Given the description of an element on the screen output the (x, y) to click on. 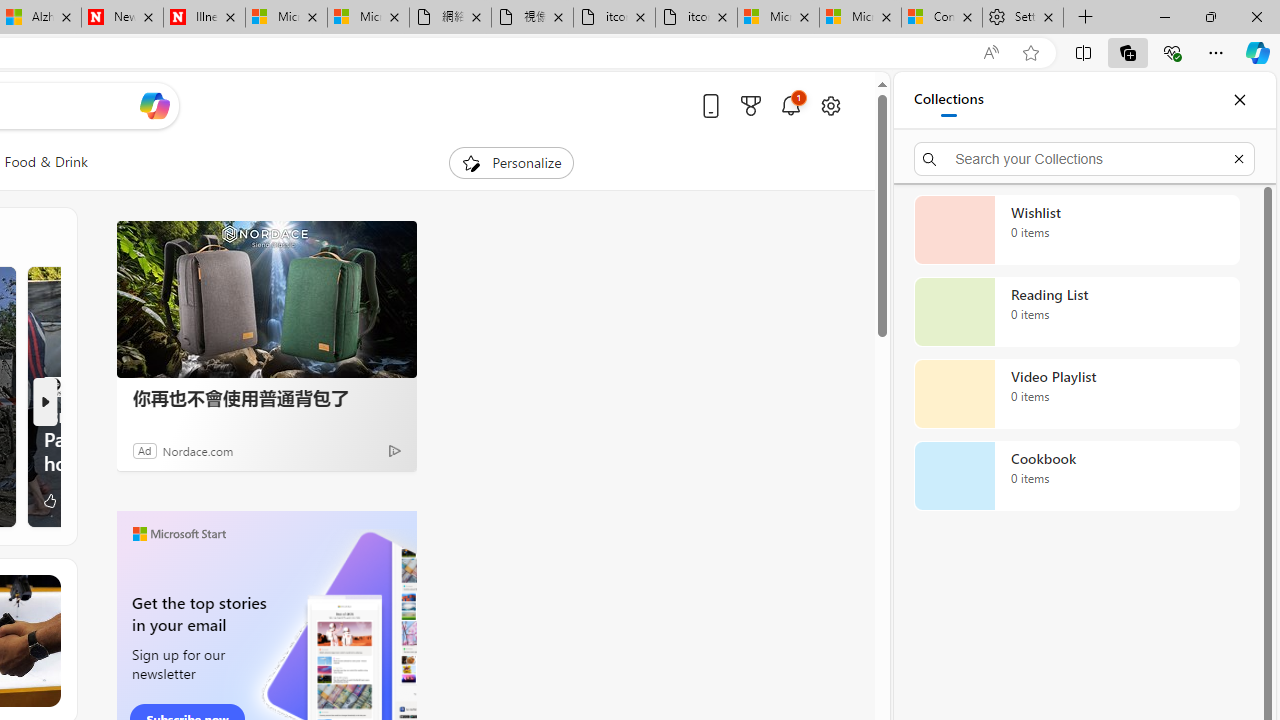
Newsweek - News, Analysis, Politics, Business, Technology (121, 17)
